Given the description of an element on the screen output the (x, y) to click on. 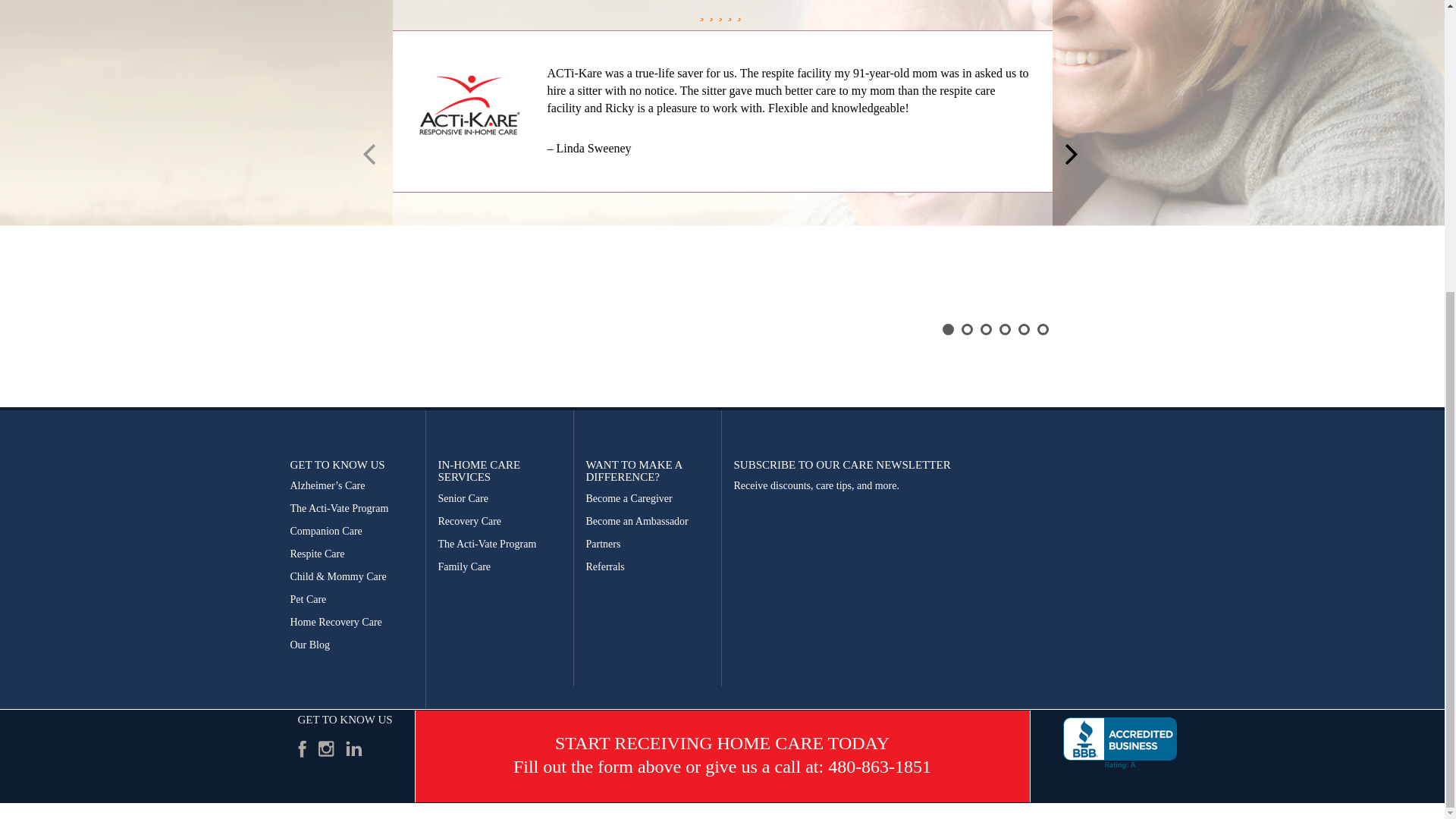
Follow Acki-Kare on Instagram (325, 748)
2 (966, 328)
5 (1023, 328)
Companion Care (351, 531)
Follow Acki-Kare on LinkedIn (354, 748)
6 (1042, 328)
4 (1004, 328)
1 (947, 328)
3 (985, 328)
The Acti-Vate Program (351, 508)
